Given the description of an element on the screen output the (x, y) to click on. 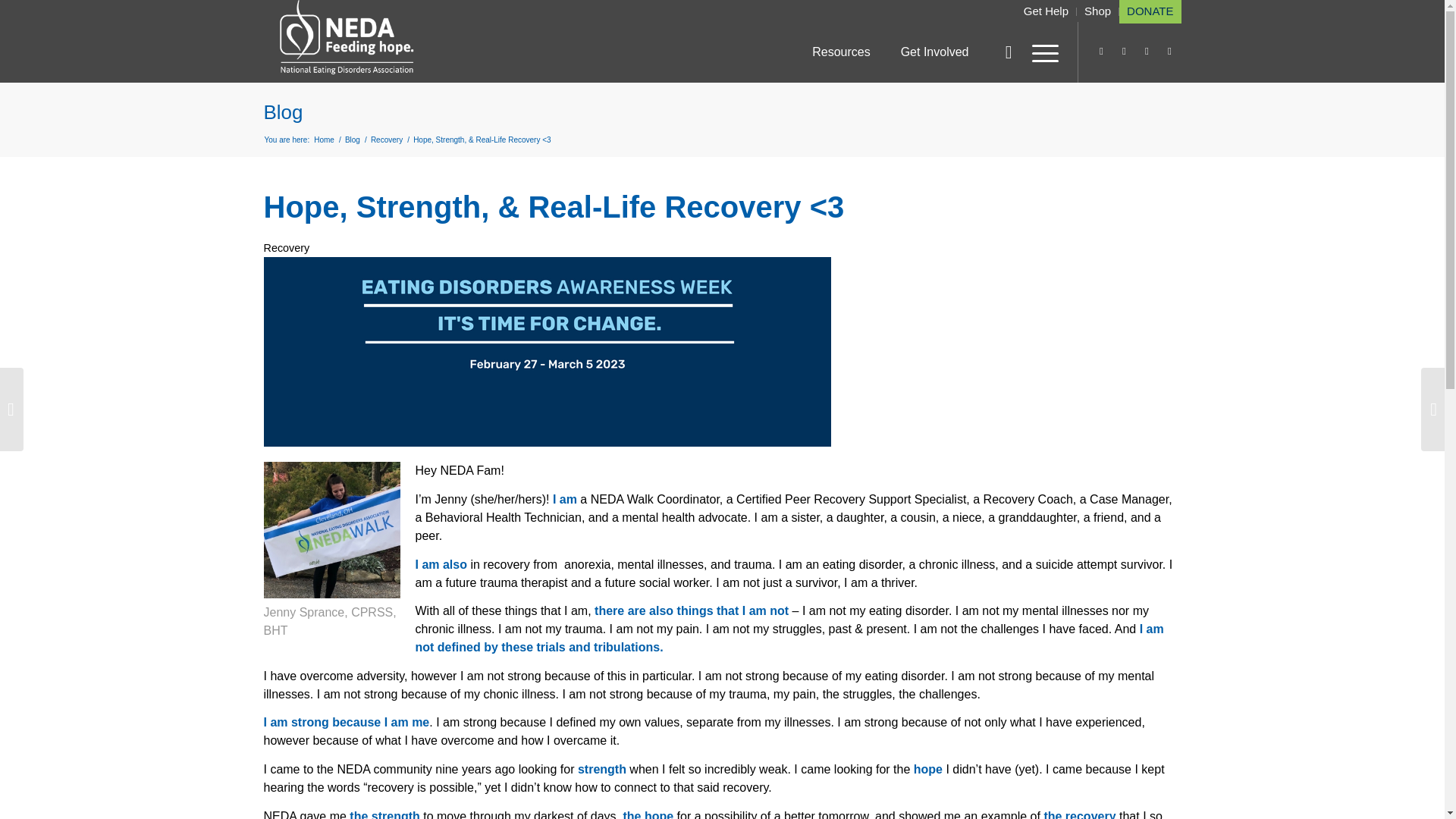
Permanent Link: Blog (282, 111)
Instagram (1101, 51)
LinkedIn (1124, 51)
Facebook (1169, 51)
Blog (352, 139)
NEDA logo Feeding Hope click to go to homepage. (346, 37)
Resources (840, 51)
DONATE (1149, 11)
National Eating Disorders Association (323, 139)
Get Involved (935, 51)
Please click for getting help resources (1045, 11)
Blog (282, 111)
Recovery (386, 139)
Recovery (286, 247)
Blog (352, 139)
